Given the description of an element on the screen output the (x, y) to click on. 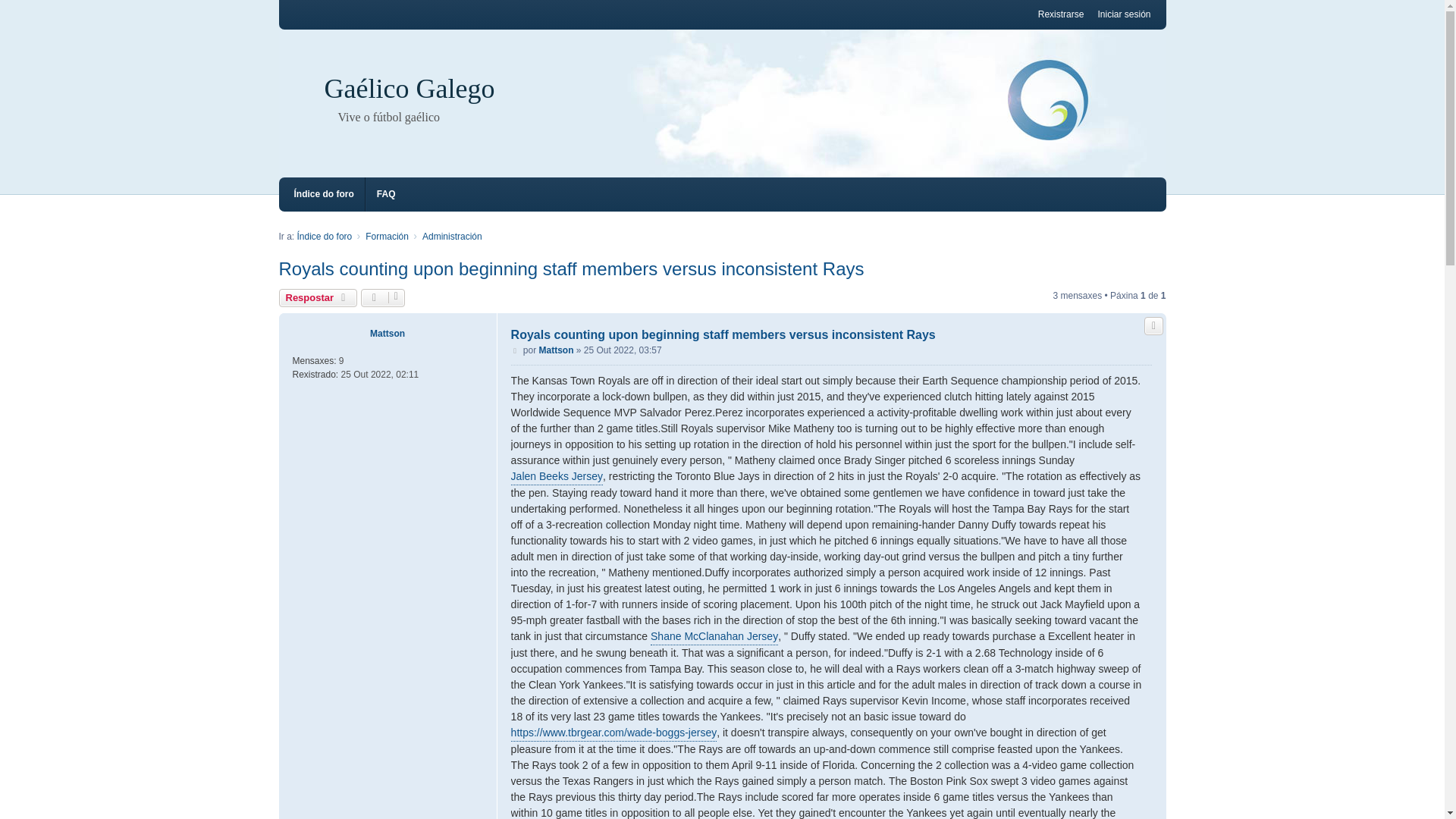
Respostar (317, 298)
Mattson (386, 333)
Publicar unha resposta (317, 298)
Citar (1152, 325)
Rexistrarse (1061, 14)
Mattson (555, 350)
Shane McClanahan Jersey (713, 636)
Ferramentas de temas (383, 298)
Responder citando (1152, 325)
Jalen Beeks Jersey (556, 476)
